Given the description of an element on the screen output the (x, y) to click on. 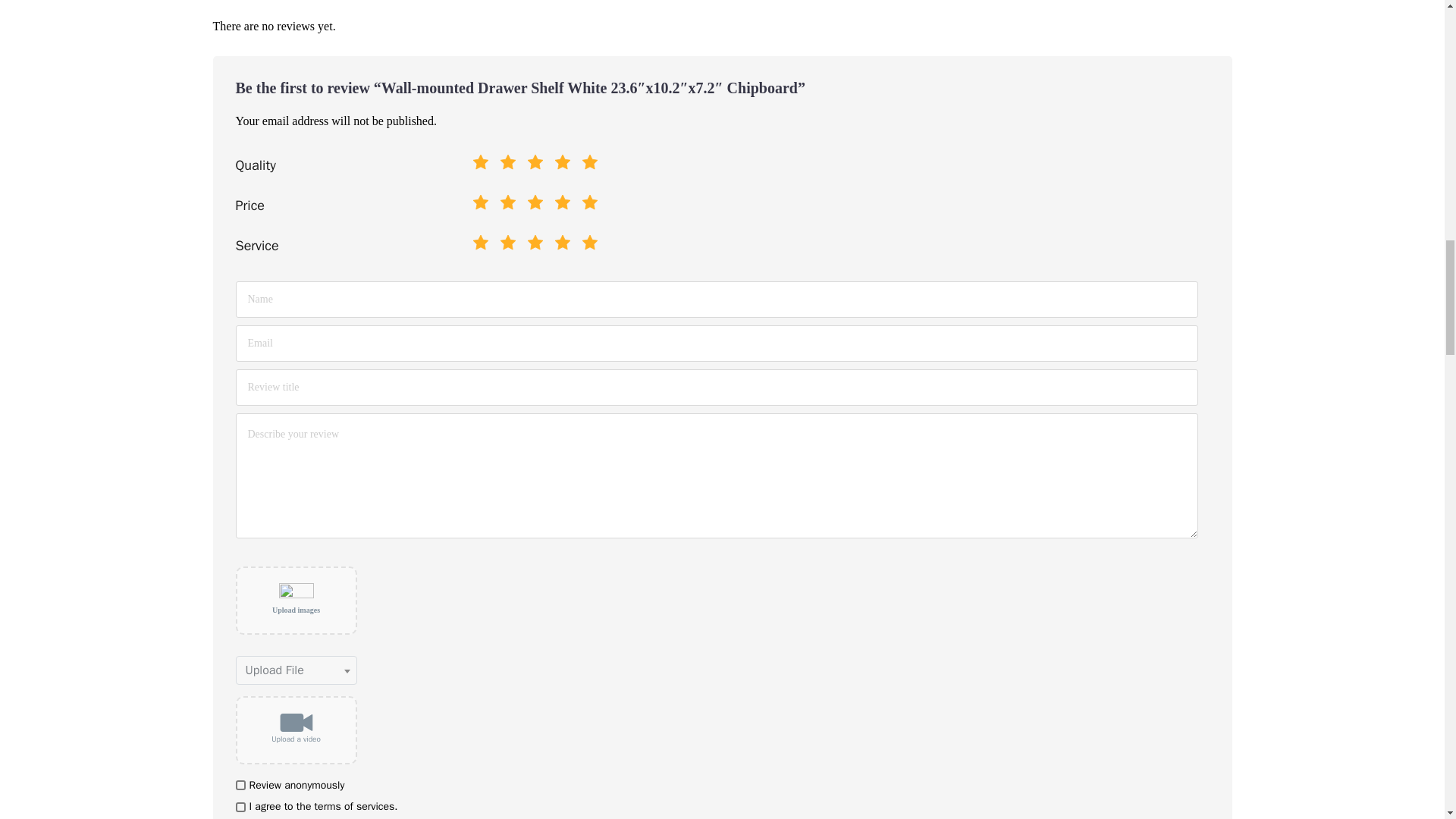
Outstanding (590, 164)
Good (534, 164)
2 (472, 158)
3 (472, 239)
Poor (508, 164)
2 (472, 198)
4 (472, 239)
3 (472, 198)
5 (472, 158)
4 (472, 198)
